Given the description of an element on the screen output the (x, y) to click on. 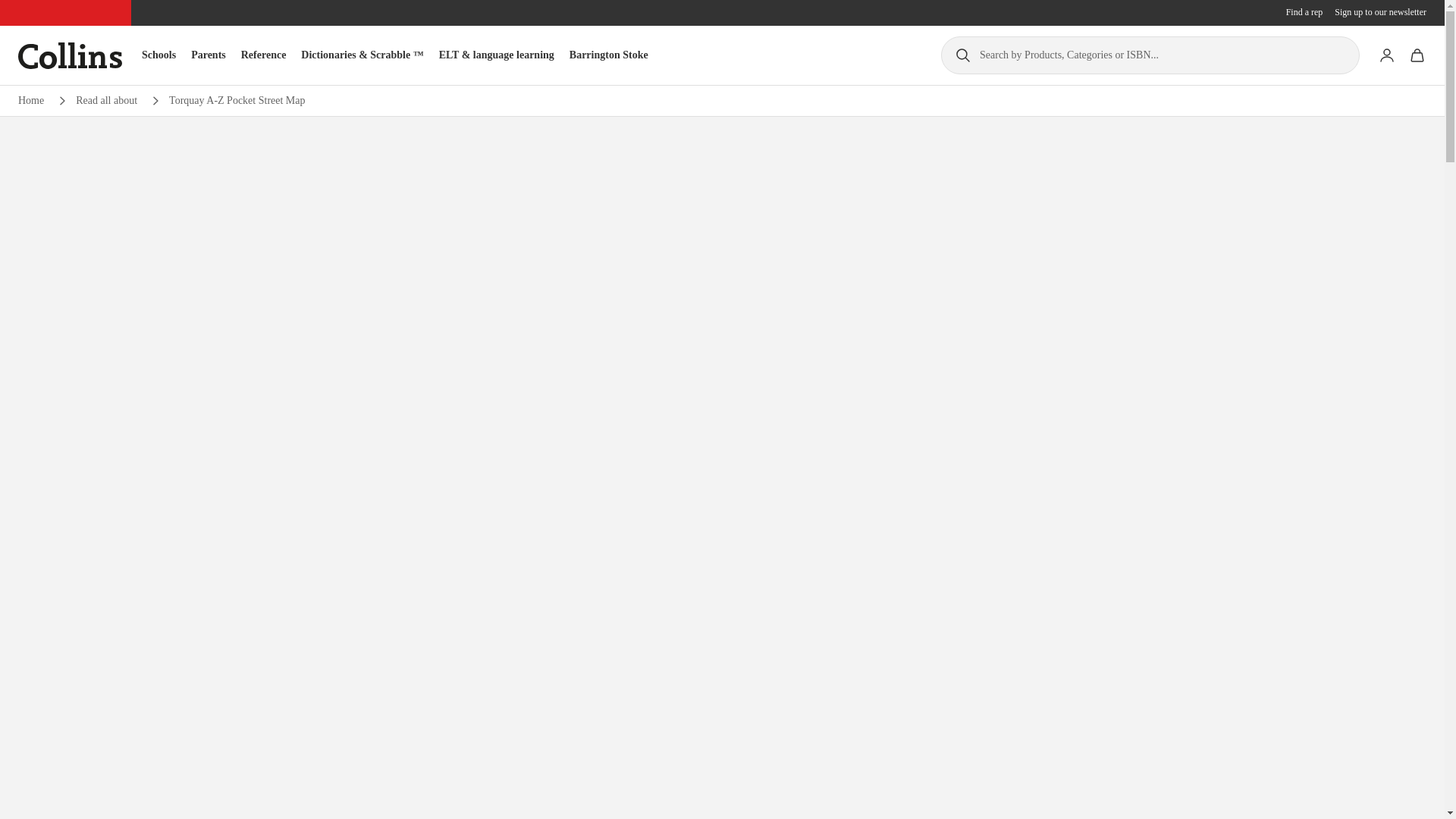
Sign up to our newsletter (1380, 11)
Barrington Stoke (608, 55)
Read all about (105, 100)
Schools (158, 55)
Reference (264, 55)
Parents (208, 55)
Collins (69, 55)
Toggle cart (1417, 55)
Find a rep (1304, 11)
Home (30, 100)
Read all about  (105, 100)
Account (1386, 55)
Torquay A-Z Pocket Street Map (236, 100)
